Given the description of an element on the screen output the (x, y) to click on. 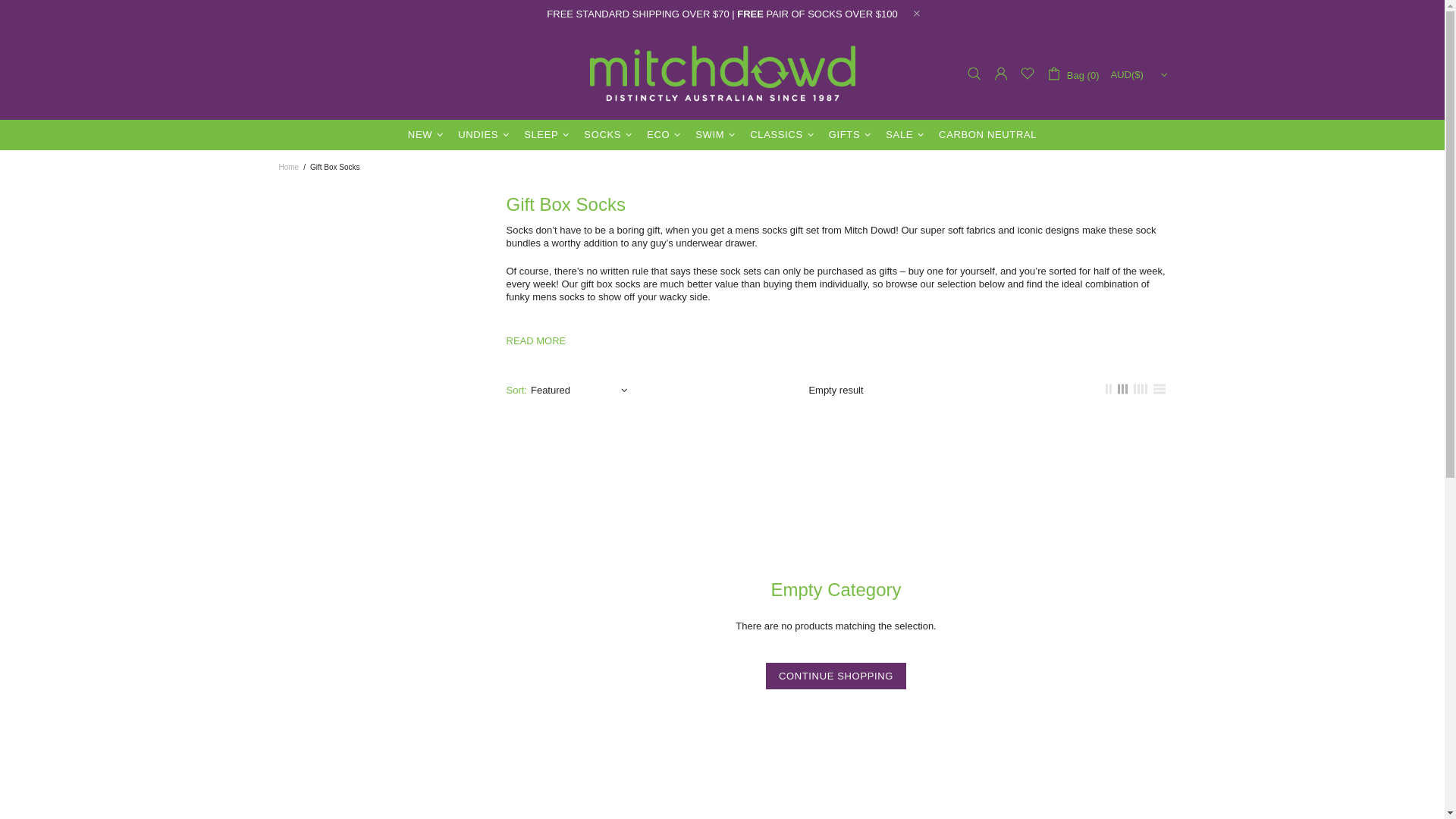
Mitch Dowd (722, 73)
UNDIES (485, 134)
NEW (427, 134)
